Given the description of an element on the screen output the (x, y) to click on. 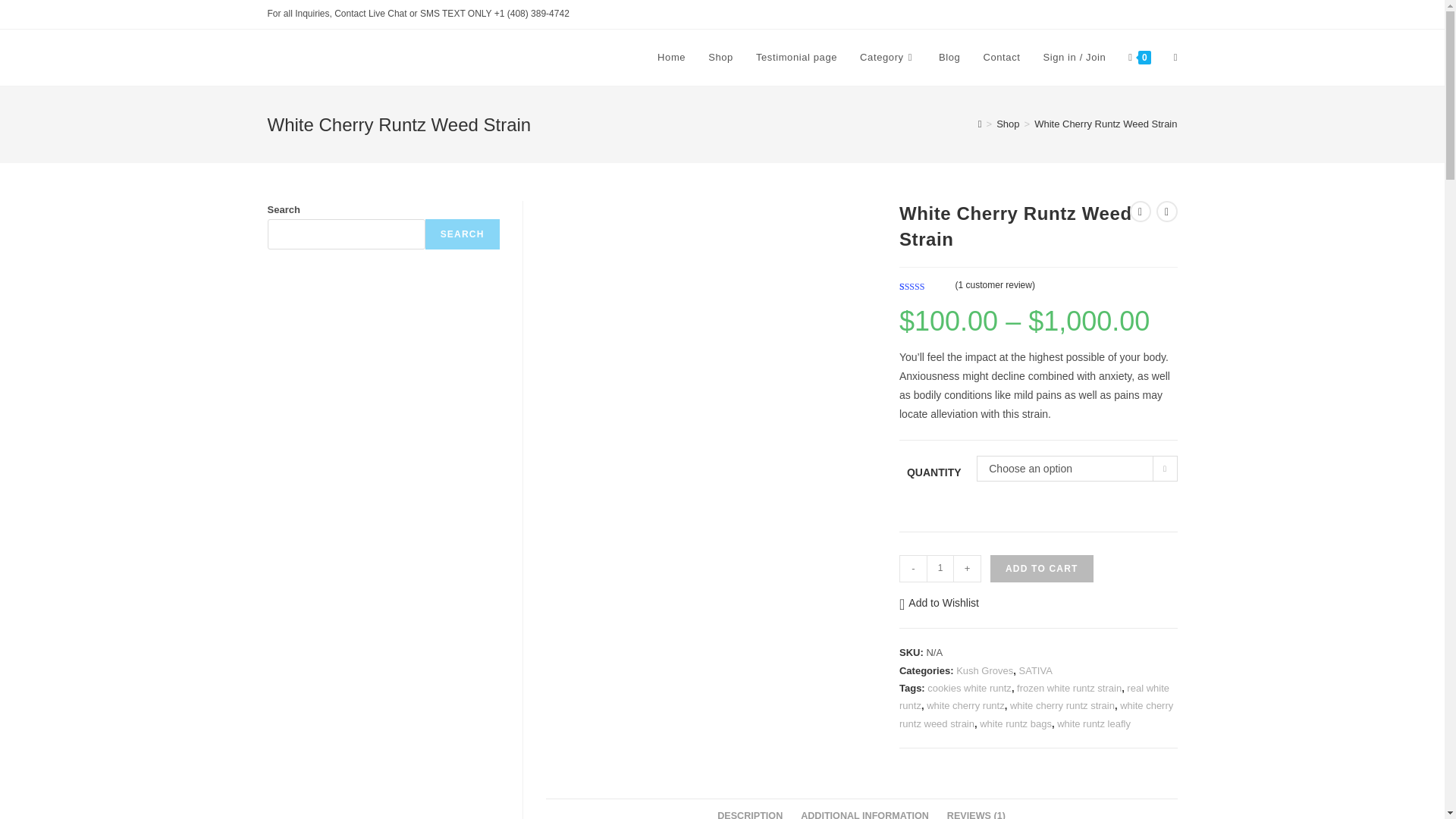
1 (939, 568)
Home (671, 57)
Category (887, 57)
Contact (1000, 57)
Testimonial page (796, 57)
